Given the description of an element on the screen output the (x, y) to click on. 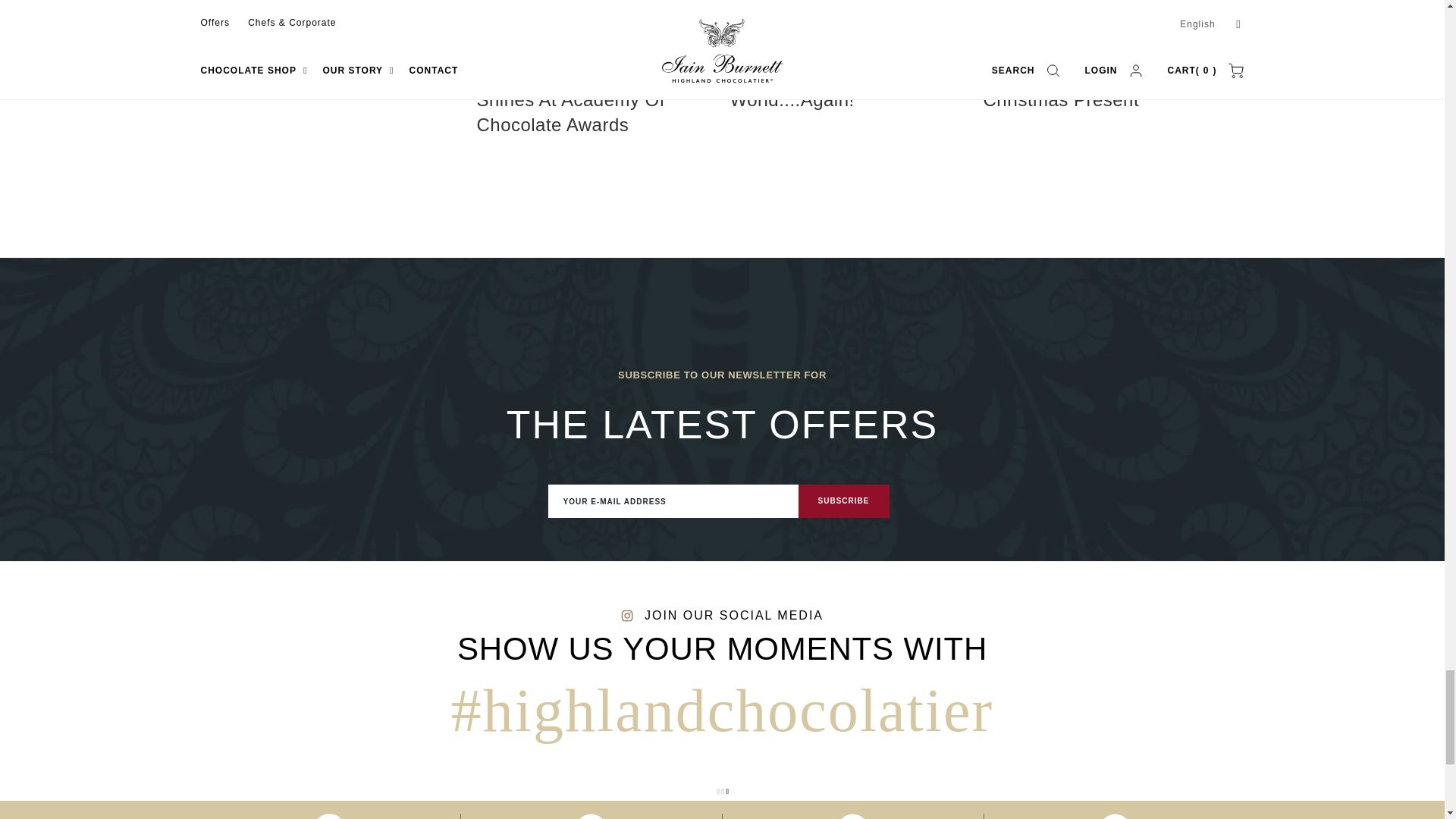
SUBSCRIBE (842, 500)
